Given the description of an element on the screen output the (x, y) to click on. 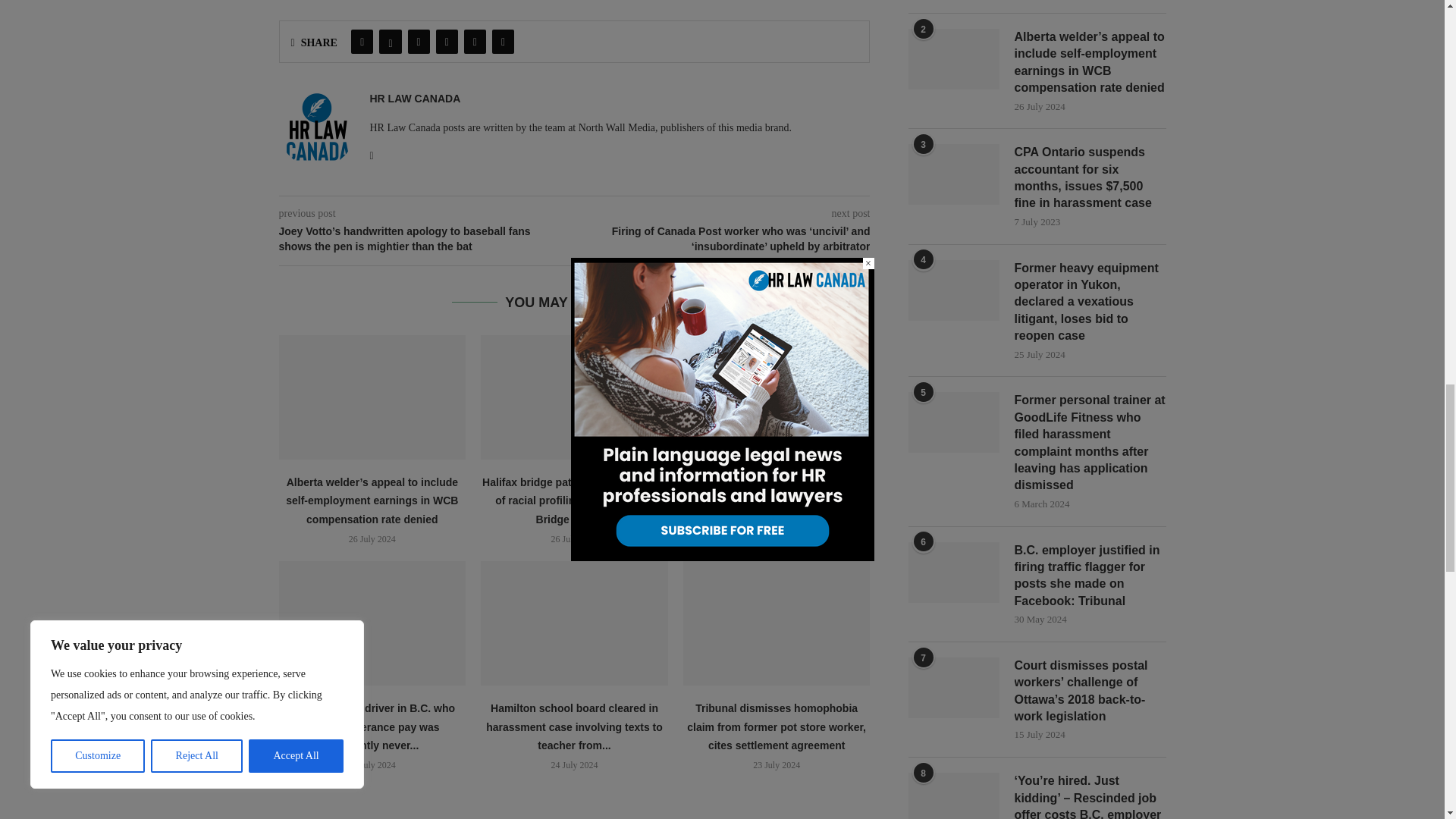
Posts by HR Law Canada (415, 98)
